Given the description of an element on the screen output the (x, y) to click on. 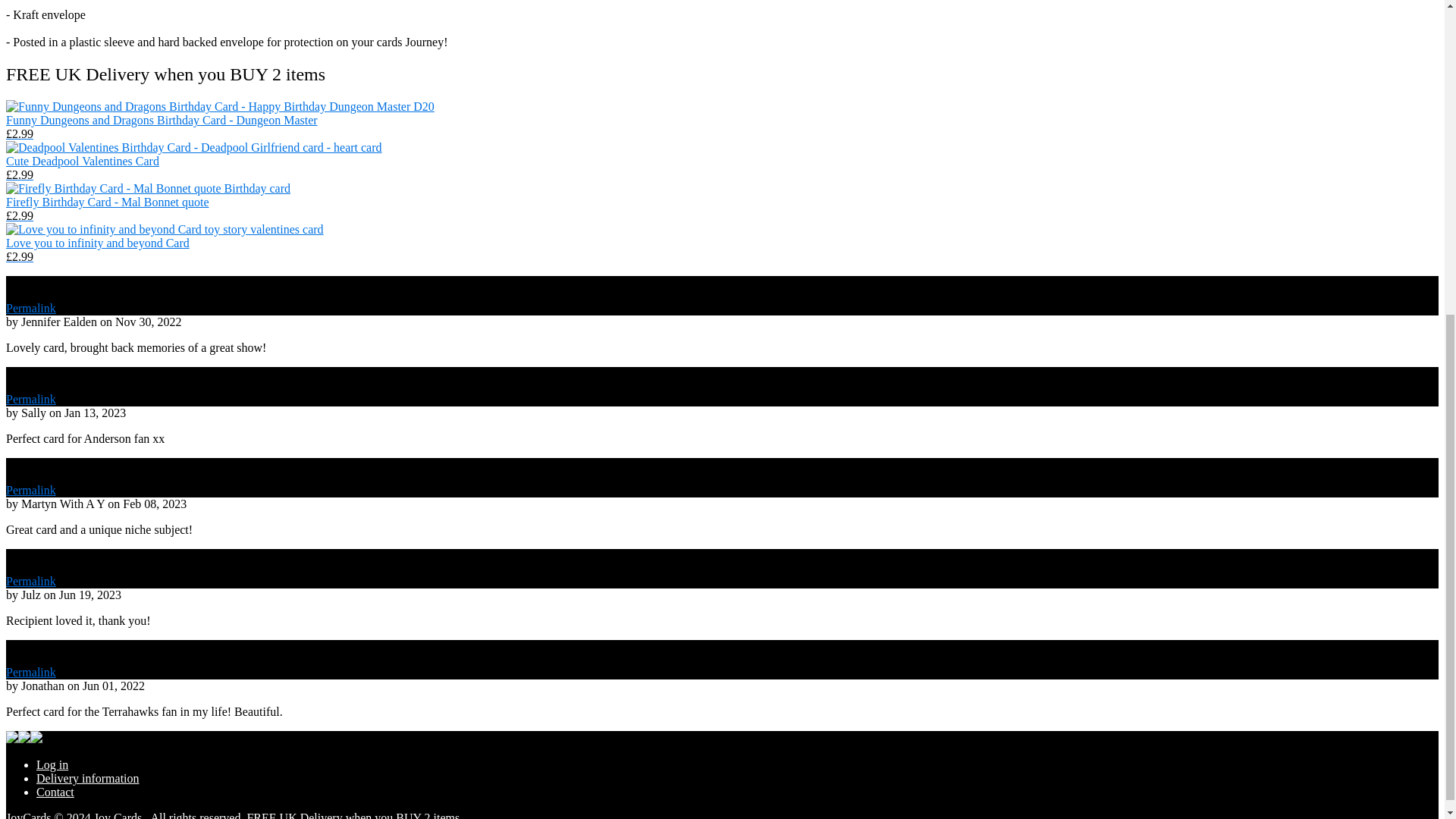
Permalink (30, 308)
Permalink (30, 581)
Delivery information (87, 778)
Log in (52, 764)
Permalink (30, 671)
Contact (55, 791)
Permalink (30, 399)
Permalink (30, 490)
